Given the description of an element on the screen output the (x, y) to click on. 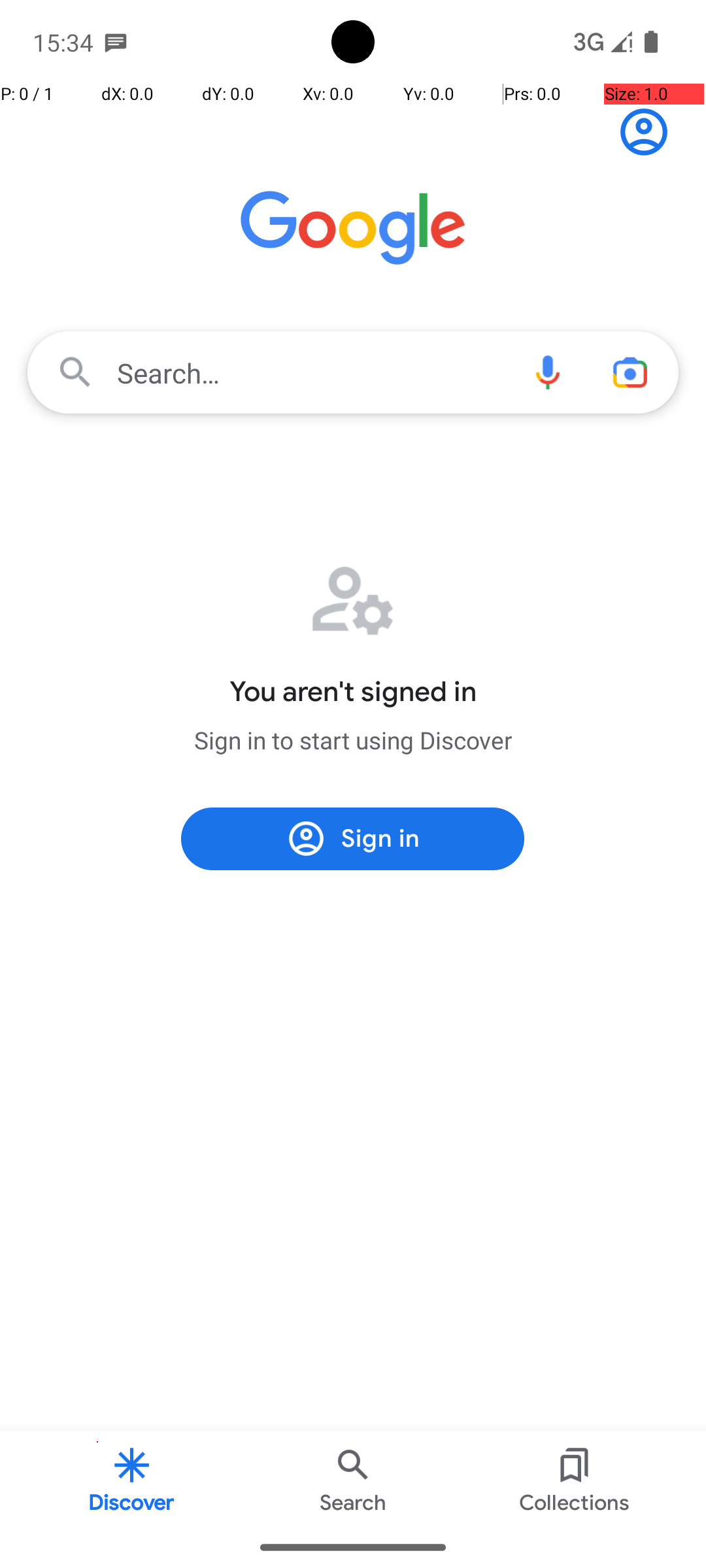
Sign in Element type: android.widget.FrameLayout (650, 131)
Camera search Element type: android.widget.ImageButton (629, 372)
Discover Element type: android.widget.FrameLayout (131, 1478)
Collections Button Element type: android.widget.FrameLayout (565, 1501)
You aren't signed in Element type: android.widget.TextView (352, 691)
Sign in to start using Discover Element type: android.widget.TextView (352, 739)
